Given the description of an element on the screen output the (x, y) to click on. 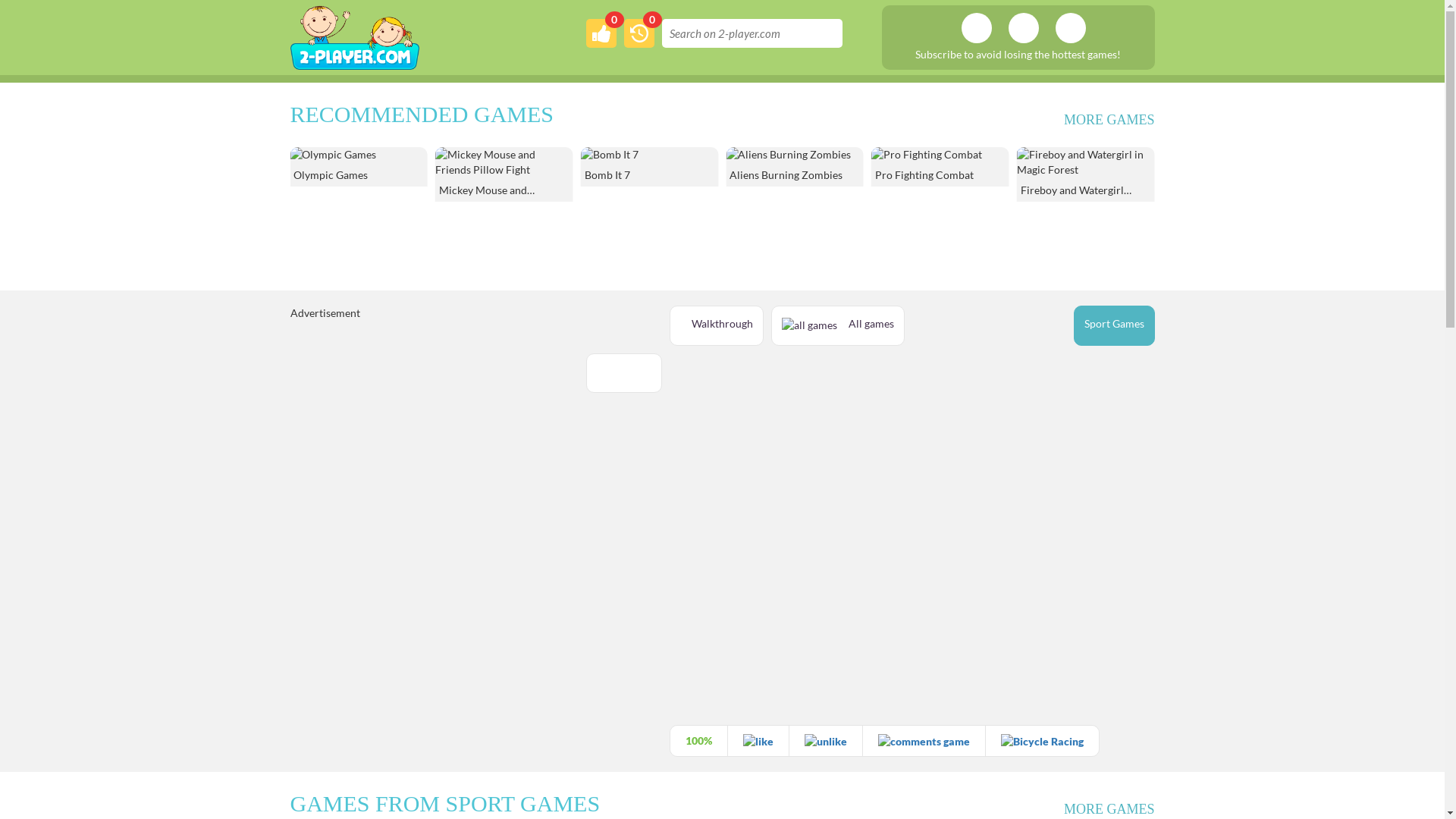
Aliens Burning Zombies Element type: text (940, 166)
Olympic Games Element type: text (504, 166)
Search Element type: text (821, 32)
0 Element type: text (600, 32)
Sport Games Element type: text (1113, 325)
0 Element type: text (638, 32)
Pro Fighting Combat Element type: text (1085, 166)
Bomb It 7 Element type: text (794, 166)
MORE GAMES Element type: text (1108, 120)
2-player.com Element type: hover (353, 35)
All games Element type: text (836, 325)
Walkthrough Element type: text (715, 325)
MORE GAMES Element type: text (1108, 809)
